Given the description of an element on the screen output the (x, y) to click on. 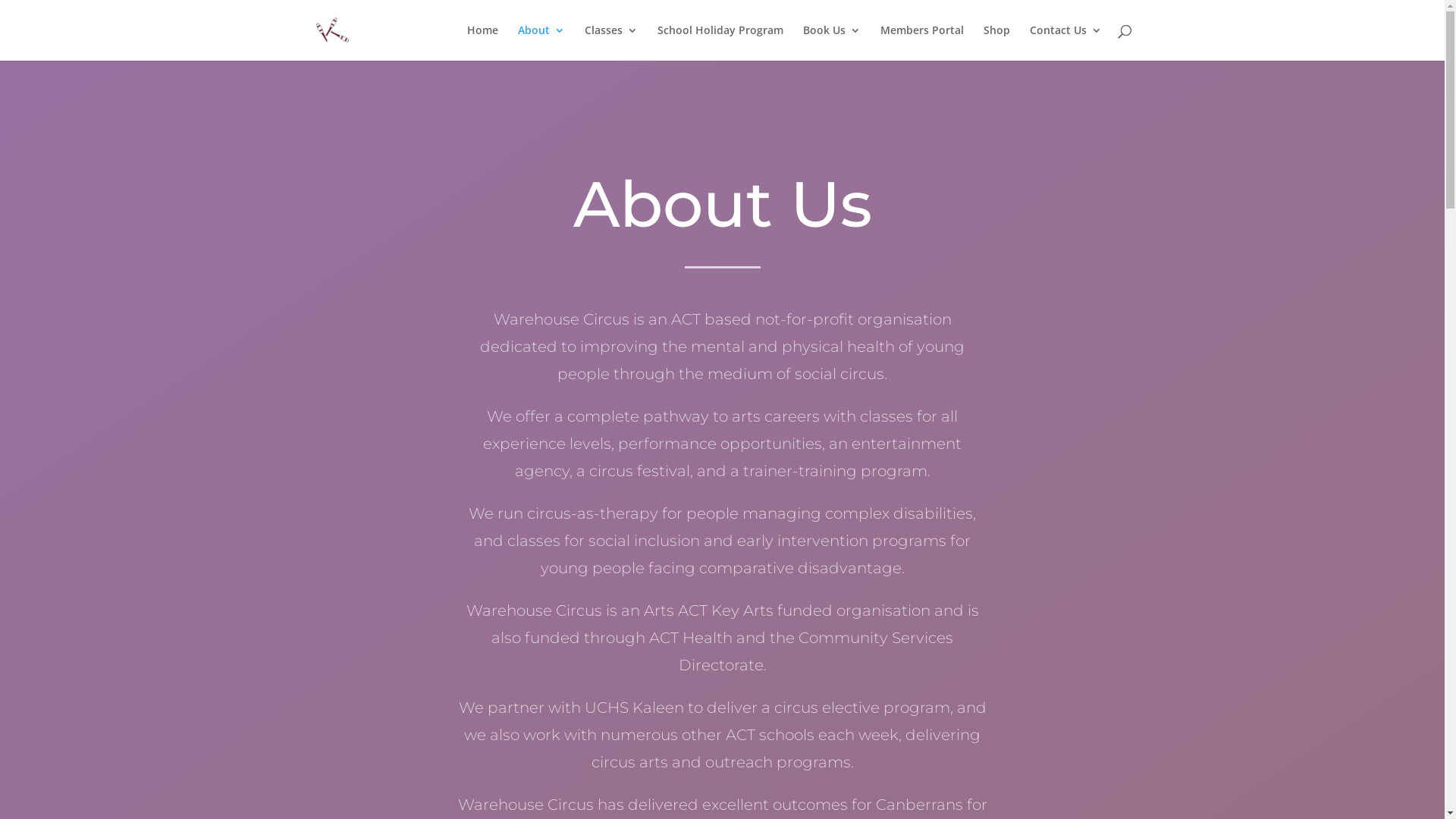
Shop Element type: text (995, 42)
Classes Element type: text (610, 42)
About Element type: text (540, 42)
Home Element type: text (482, 42)
Members Portal Element type: text (921, 42)
School Holiday Program Element type: text (719, 42)
Contact Us Element type: text (1065, 42)
Book Us Element type: text (830, 42)
